Given the description of an element on the screen output the (x, y) to click on. 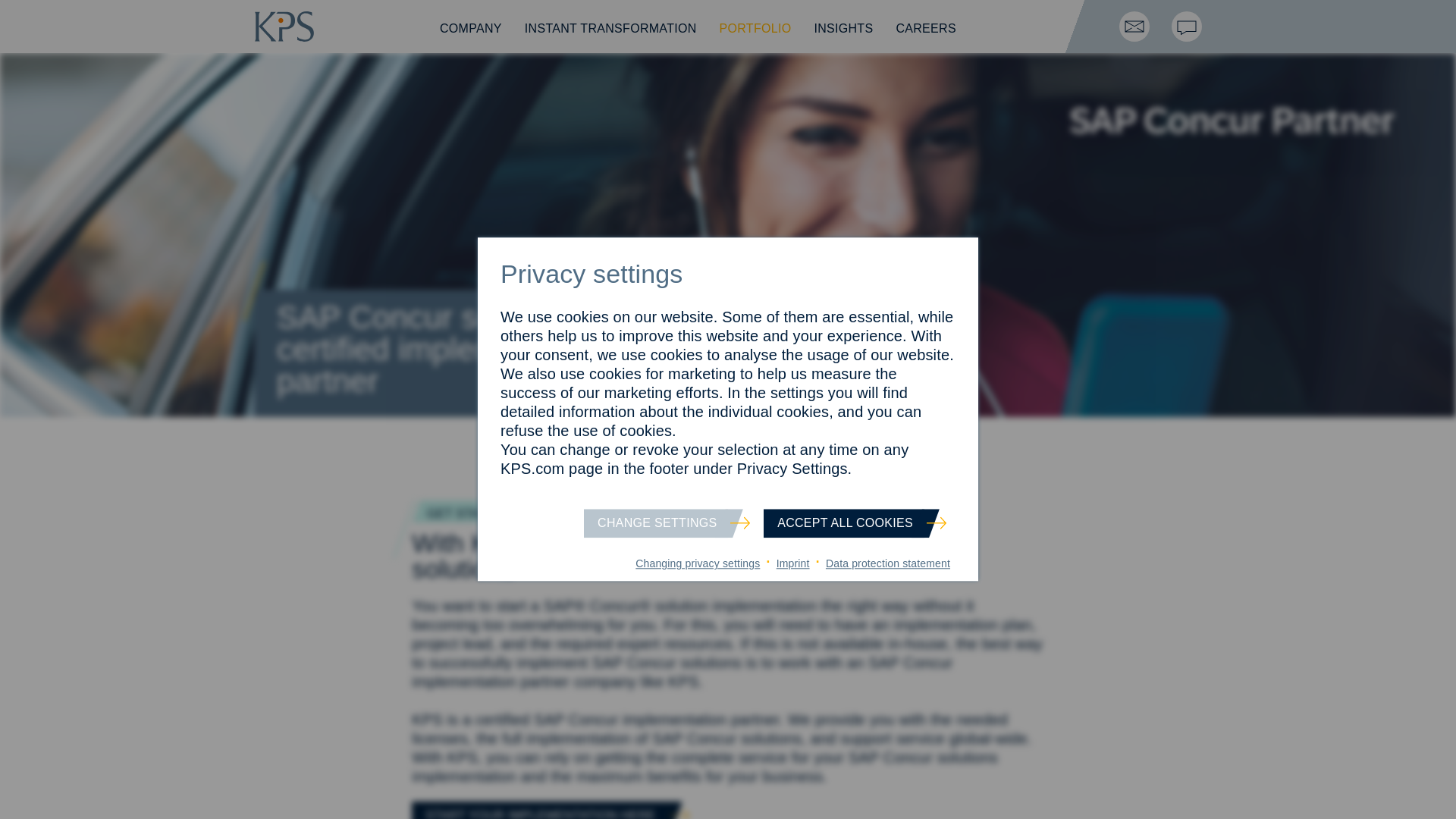
back To Startpage (283, 36)
COMPANY (470, 28)
PORTFOLIO (755, 28)
Company (470, 28)
Instant Transformation (610, 28)
INSTANT TRANSFORMATION (610, 28)
